Given the description of an element on the screen output the (x, y) to click on. 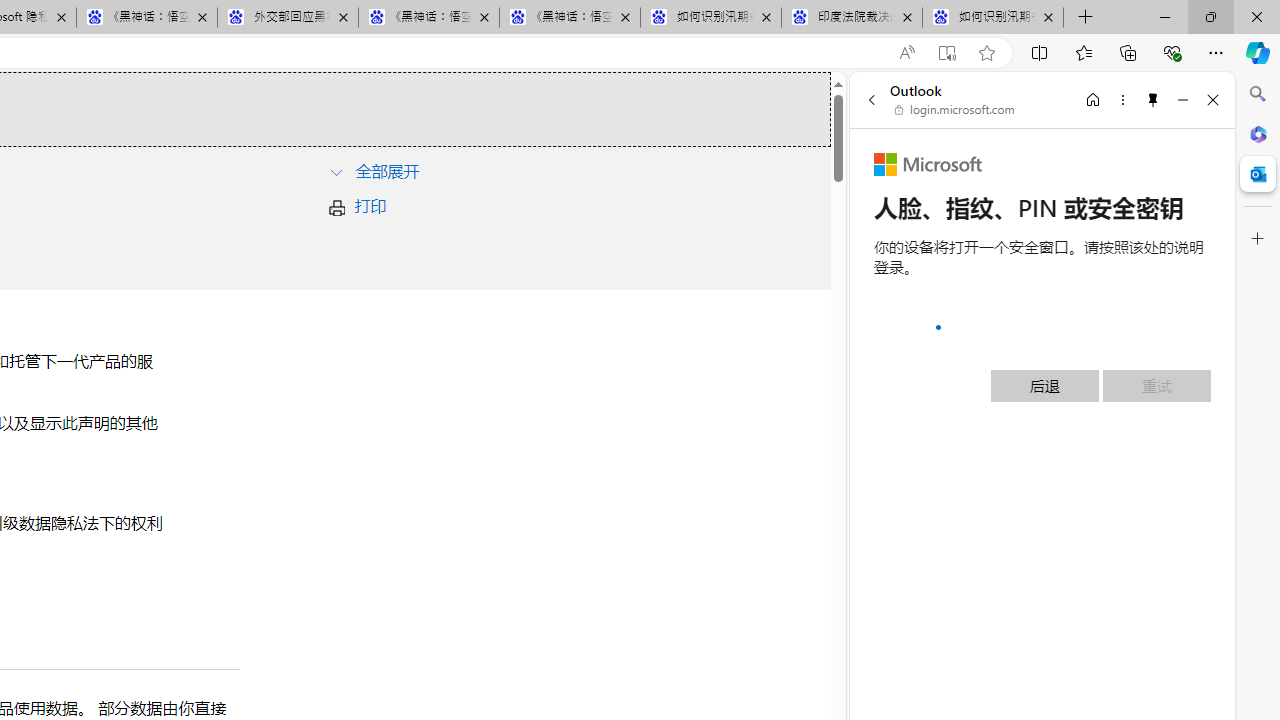
login.microsoft.com (955, 110)
